Given the description of an element on the screen output the (x, y) to click on. 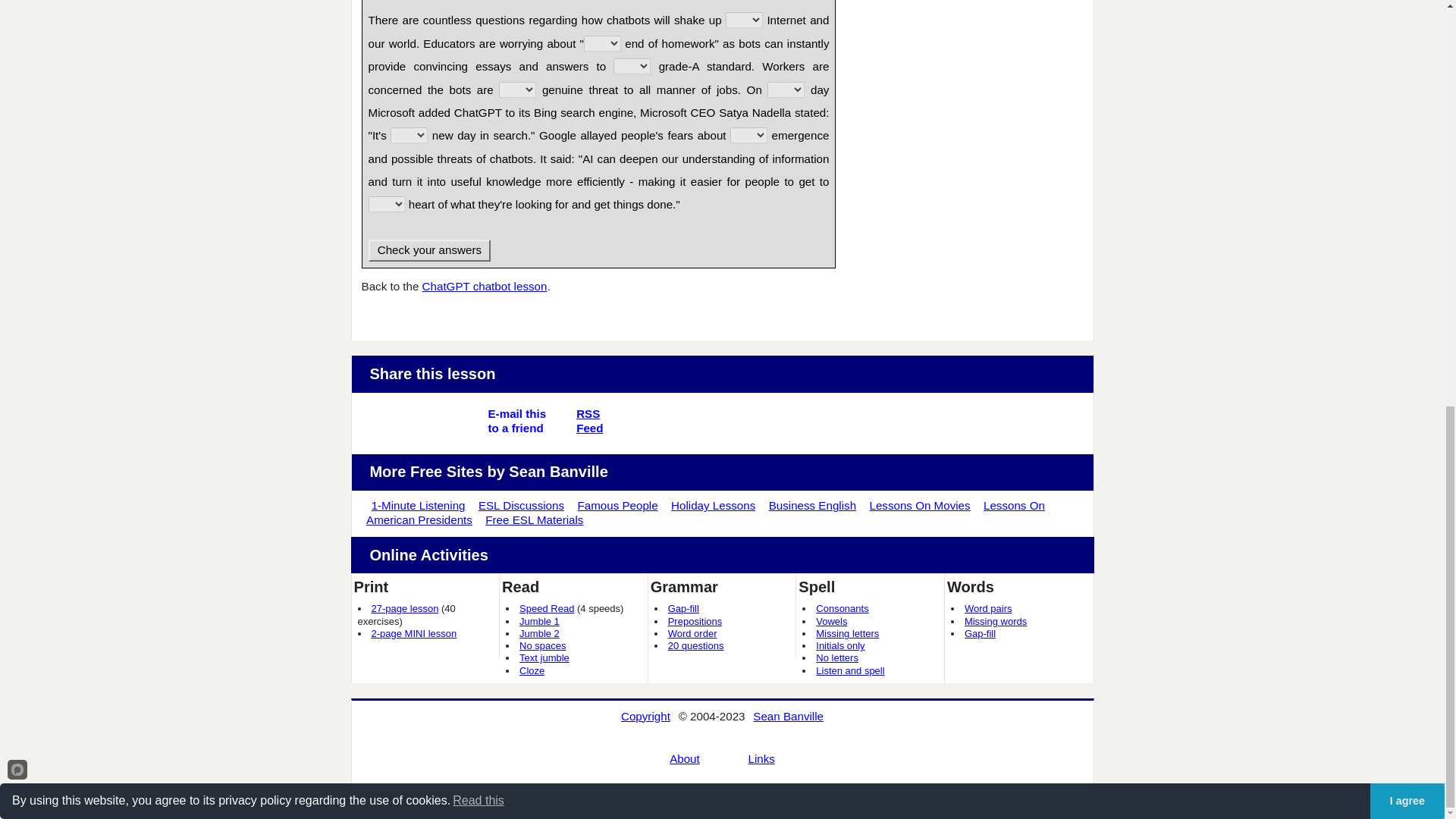
Missing letters (847, 633)
Consonants (841, 608)
Vowels (831, 621)
Text jumble (517, 427)
1-Minute Listening (544, 657)
 Check your answers  (418, 504)
Word order (430, 250)
27-page lesson (589, 420)
Gap-fill (692, 633)
Jumble 1 (405, 608)
Holiday Lessons (683, 608)
... to a friend, student, colleague... (539, 621)
Missing words (712, 504)
